Given the description of an element on the screen output the (x, y) to click on. 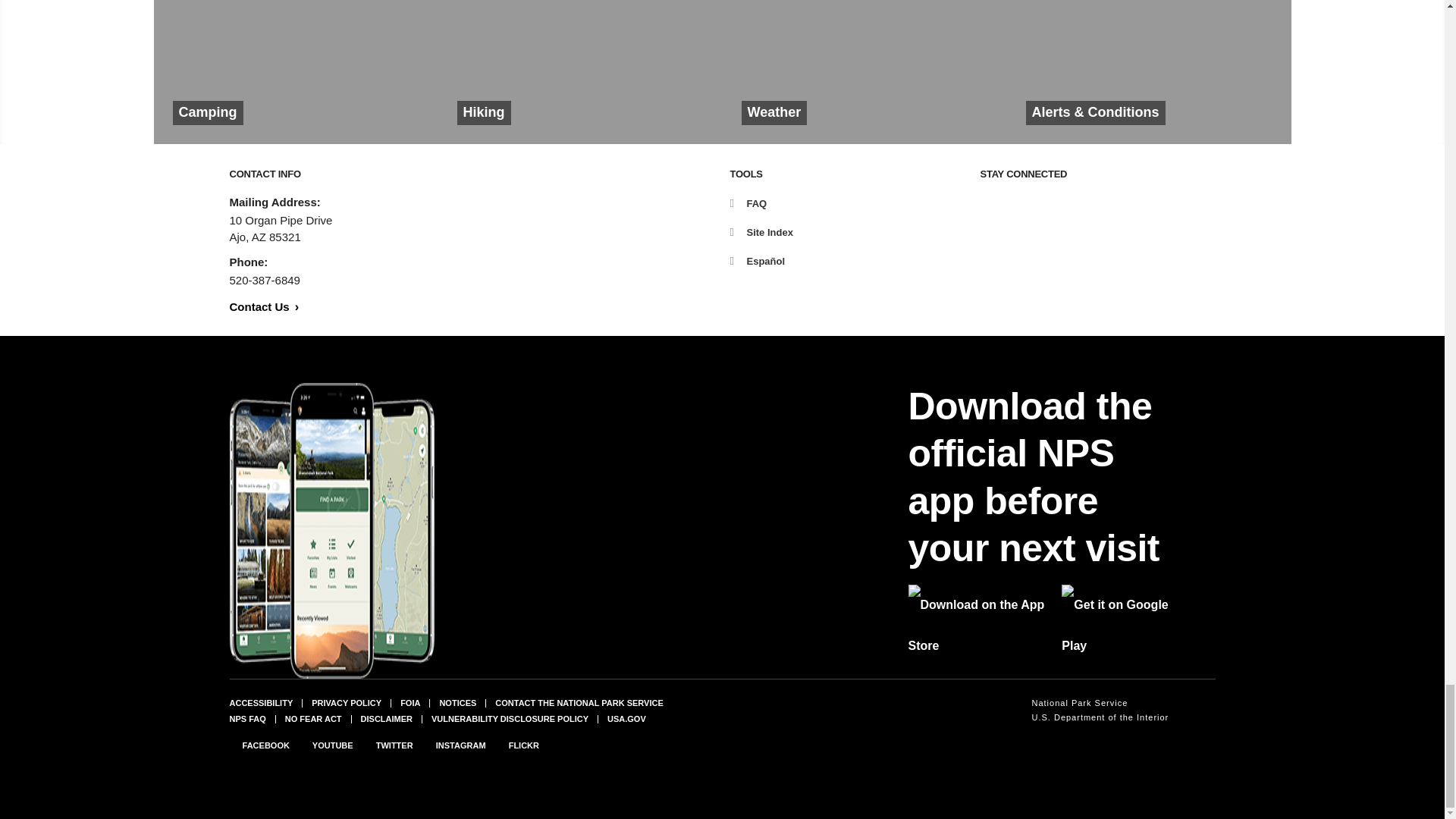
Camping (295, 72)
Weather (864, 72)
Site Index (760, 232)
FAQ (748, 203)
Hiking (580, 72)
Contact Us (263, 306)
National Park Service frequently asked questions (246, 718)
